Given the description of an element on the screen output the (x, y) to click on. 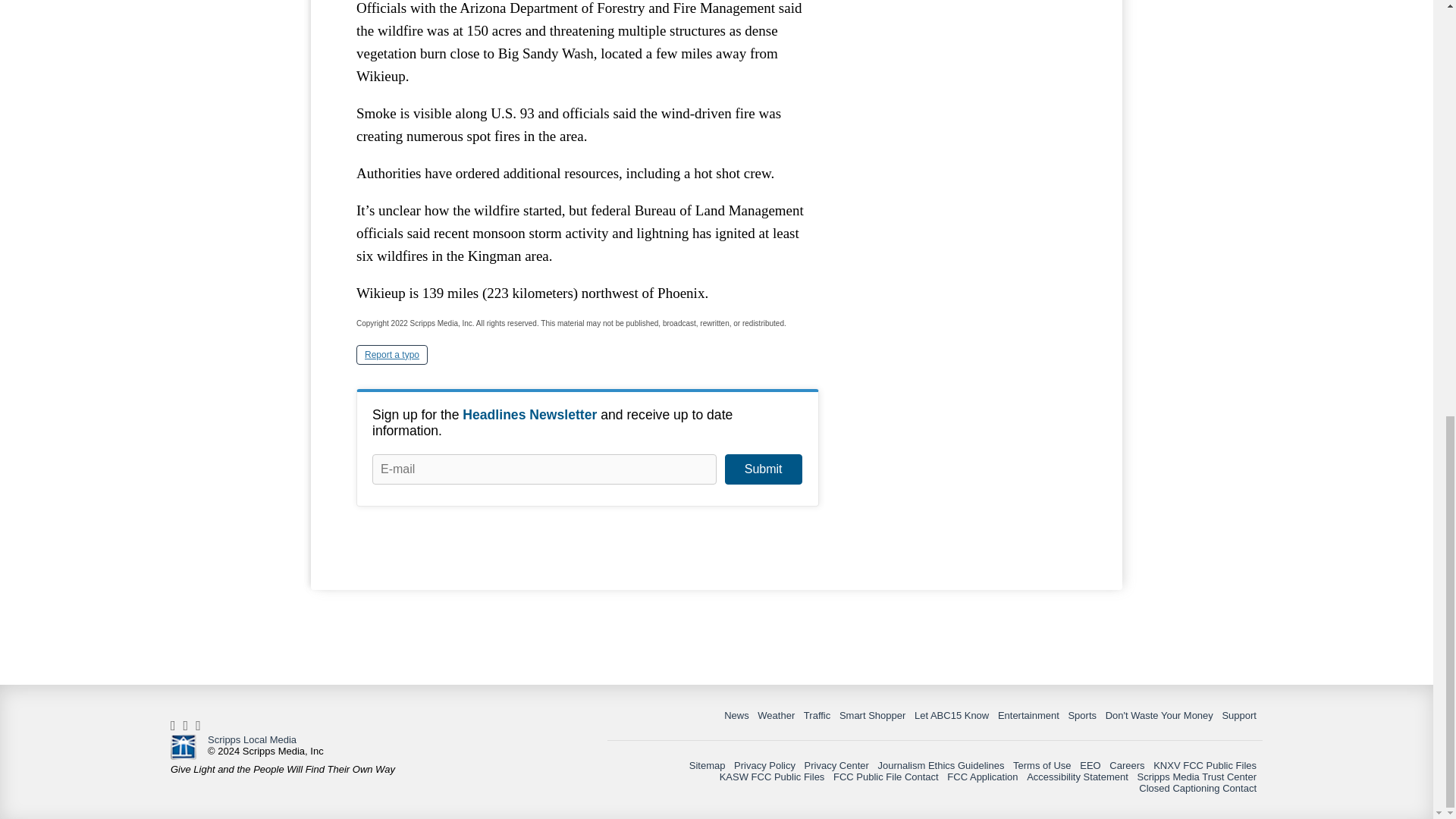
Submit (763, 469)
